Given the description of an element on the screen output the (x, y) to click on. 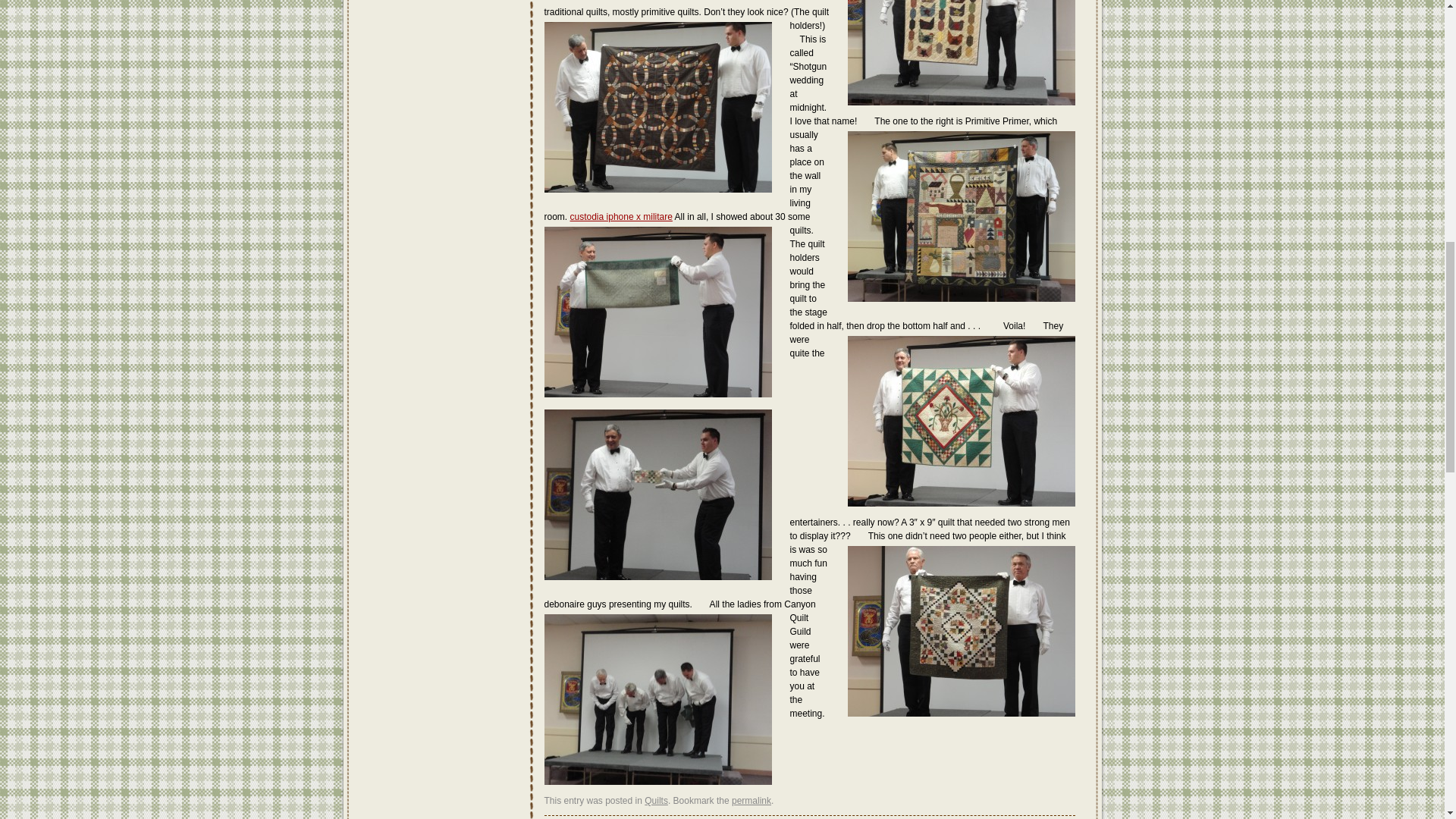
DSC01636 (657, 311)
DSC01611 (657, 107)
DSC01625 (961, 216)
Quilts (656, 800)
DSC01620 (961, 631)
DSC01604 (961, 52)
DSC01600 (657, 494)
custodia iphone x militare (621, 216)
DSC01640 (657, 699)
permalink (751, 800)
DSC01637 (961, 420)
Permalink to Trunk show with Chippendales (751, 800)
